Given the description of an element on the screen output the (x, y) to click on. 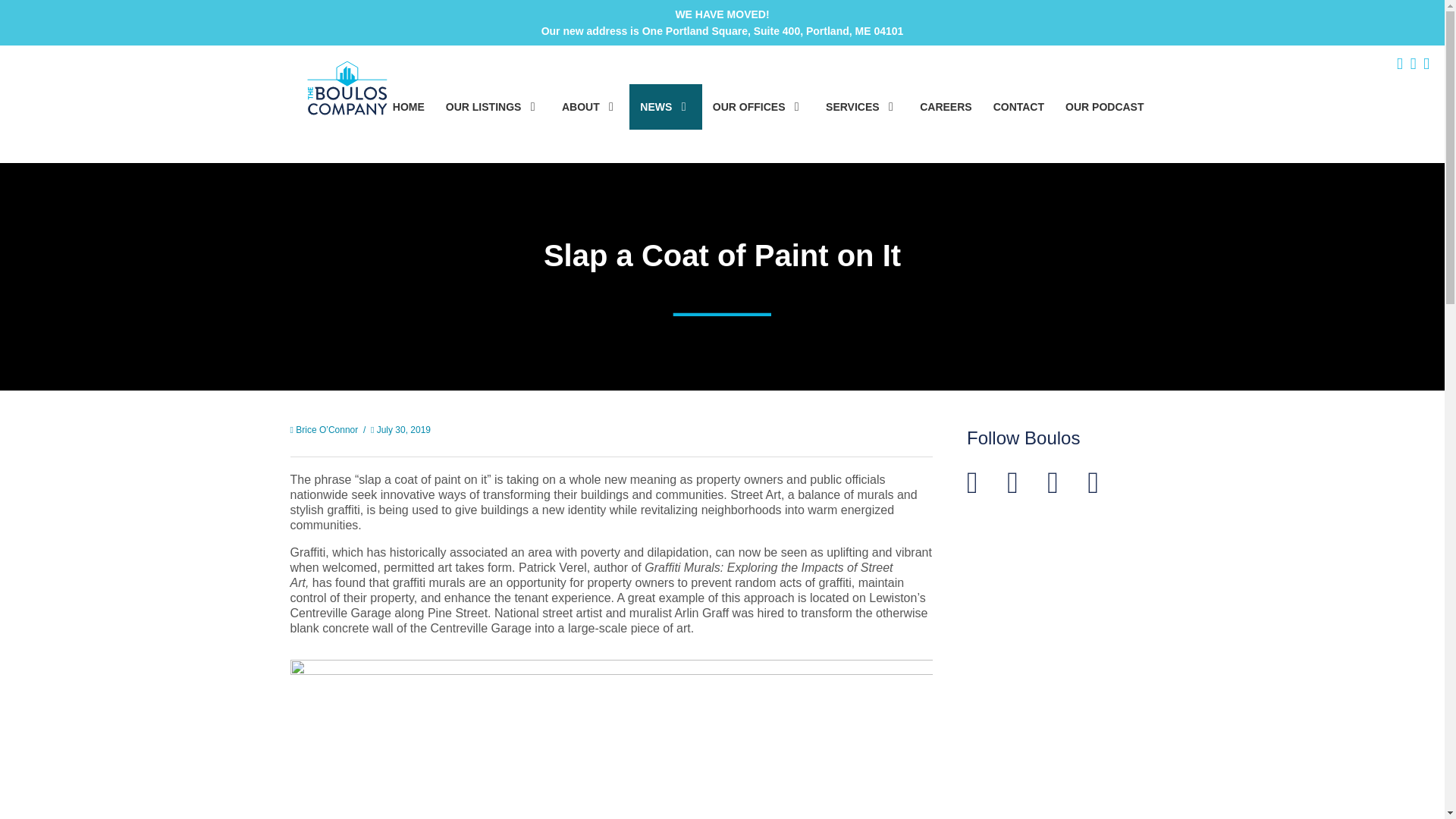
OUR LISTINGS (493, 106)
NEWS (664, 106)
ABOUT (589, 106)
HOME (408, 106)
